Given the description of an element on the screen output the (x, y) to click on. 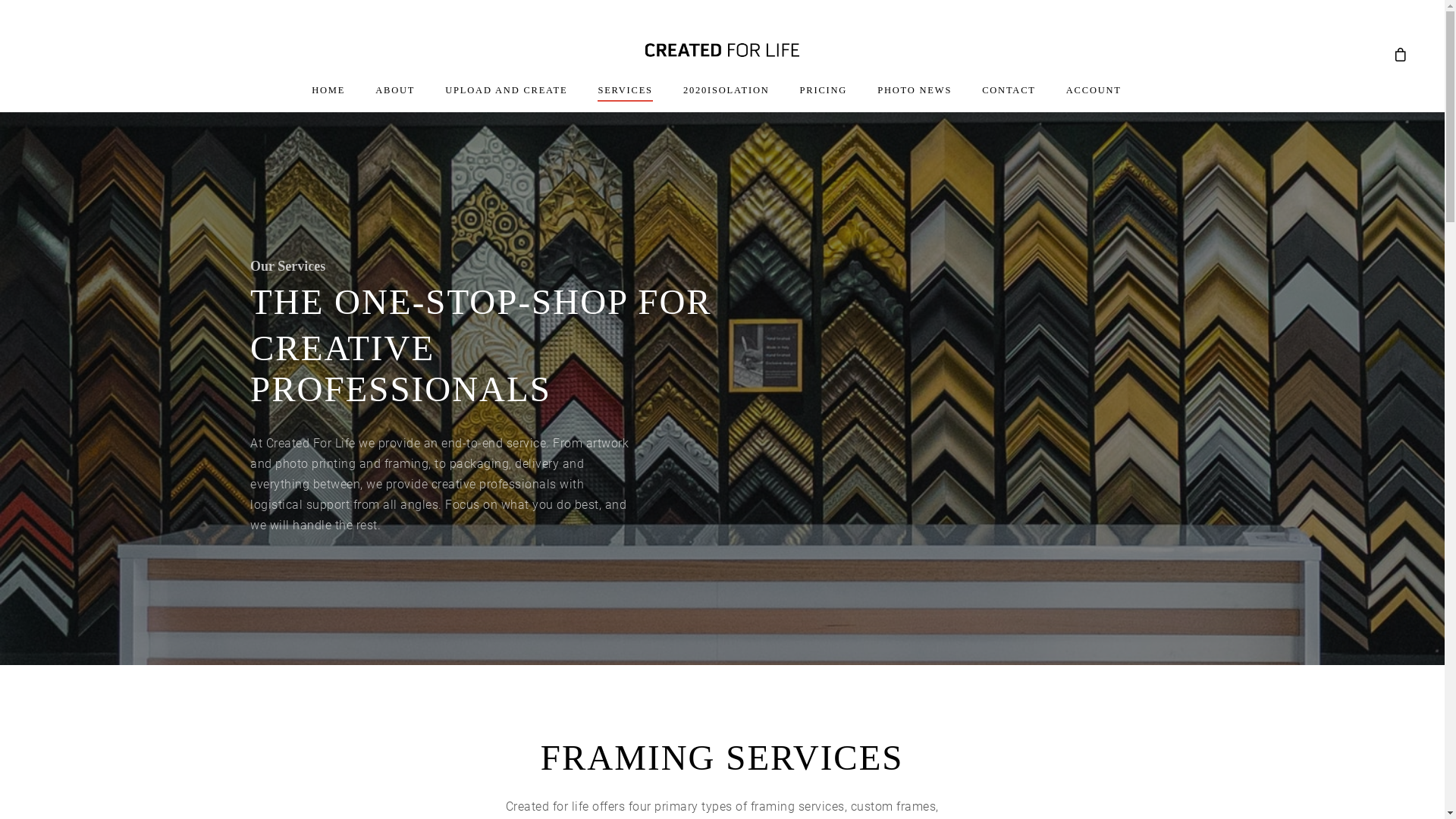
UPLOAD AND CREATE Element type: text (506, 98)
CONTACT Element type: text (1008, 98)
PHOTO NEWS Element type: text (914, 98)
The Best Advice on using a Smartphone Camera for Photography Element type: text (1083, 528)
info@createdforlife.com.au Element type: text (808, 661)
ABOUT Element type: text (394, 98)
Contact Us Element type: text (521, 600)
Send Us Files Element type: text (528, 538)
Privacy Policy Element type: text (530, 579)
ACCOUNT Element type: text (1093, 98)
How to capture unique travel photography Element type: text (1083, 575)
Printing Element type: text (512, 518)
(02) 4367 8499 Element type: text (775, 717)
PRICING Element type: text (823, 98)
FAQ Element type: text (502, 559)
SERVICES Element type: text (624, 98)
2020ISOLATION Element type: text (726, 98)
HOME Element type: text (328, 98)
